Given the description of an element on the screen output the (x, y) to click on. 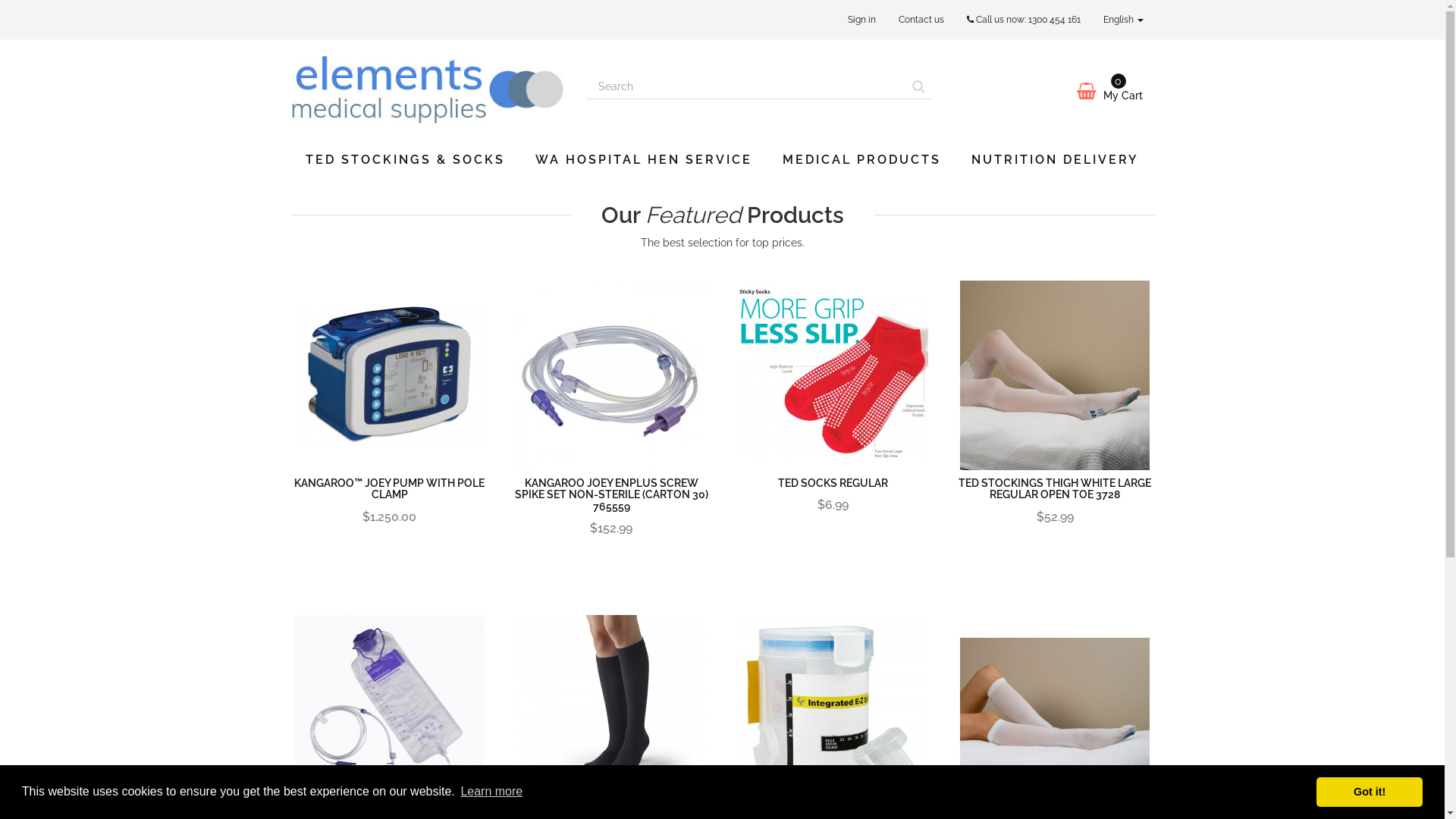
Ted Stockings Knee White Large Short Open Toe 7200 Element type: hover (1054, 709)
Sign in Element type: text (860, 19)
Learn more Element type: text (491, 791)
Contact us Element type: text (921, 19)
1300 454 161 Element type: text (1054, 19)
Search Element type: hover (918, 86)
Ted Sock Reg Element type: hover (833, 375)
Elements Medical Supplies Element type: hover (425, 87)
Ted Stockings Knee White Large Regular Open Toe 7203 Element type: hover (1054, 709)
TED STOCKINGS THIGH WHITE LARGE REGULAR OPEN TOE 3728 Element type: text (1054, 488)
WA HOSPITAL HEN SERVICE Element type: text (643, 159)
My Cart
0 Element type: text (1054, 90)
Ted Stockings Thigh White Large Regular Open Toe 3728 Element type: hover (1054, 375)
TED STOCKINGS & SOCKS Element type: text (404, 159)
TED SOCKS REGULAR Element type: text (833, 482)
Ted Stockings Knee Black Medium Regular Closed Toe 1097 Element type: hover (611, 709)
Ted Stockings Knee Black Medium Regular Closed Toe 1097 Element type: hover (611, 709)
NUTRITION DELIVERY Element type: text (1054, 159)
Kangaroo ePump Set 1000mL Non-Sterile (Carton 30) 673656 Element type: hover (389, 709)
Got it! Element type: text (1369, 791)
Ted Socks Regular Element type: hover (833, 375)
English Element type: text (1123, 19)
Ted Stockings Thigh White Large Regular Open Toe 3728 Element type: hover (1054, 375)
MEDICAL PRODUCTS Element type: text (861, 159)
